Given the description of an element on the screen output the (x, y) to click on. 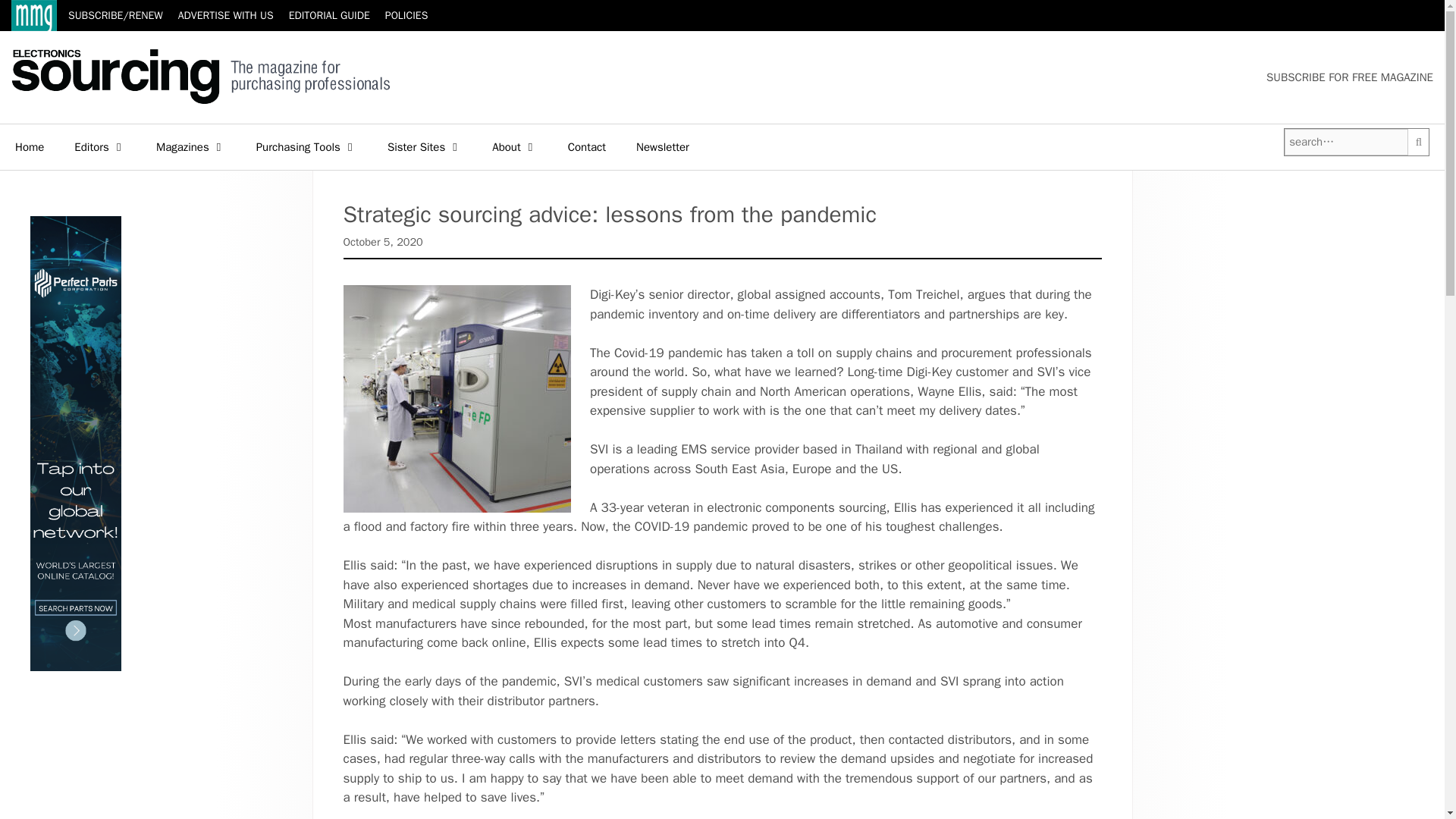
Electronics Sourcing (200, 74)
Editors (100, 146)
Contact (587, 146)
EDITORIAL GUIDE (328, 15)
SUBSCRIBE FOR FREE MAGAZINE (1349, 77)
Home (29, 146)
POLICIES (406, 15)
Newsletter (662, 146)
Search for: (1345, 141)
About (514, 146)
Purchasing Tools (306, 146)
Magazines (191, 146)
ADVERTISE WITH US (225, 15)
Sister Sites (424, 146)
